Given the description of an element on the screen output the (x, y) to click on. 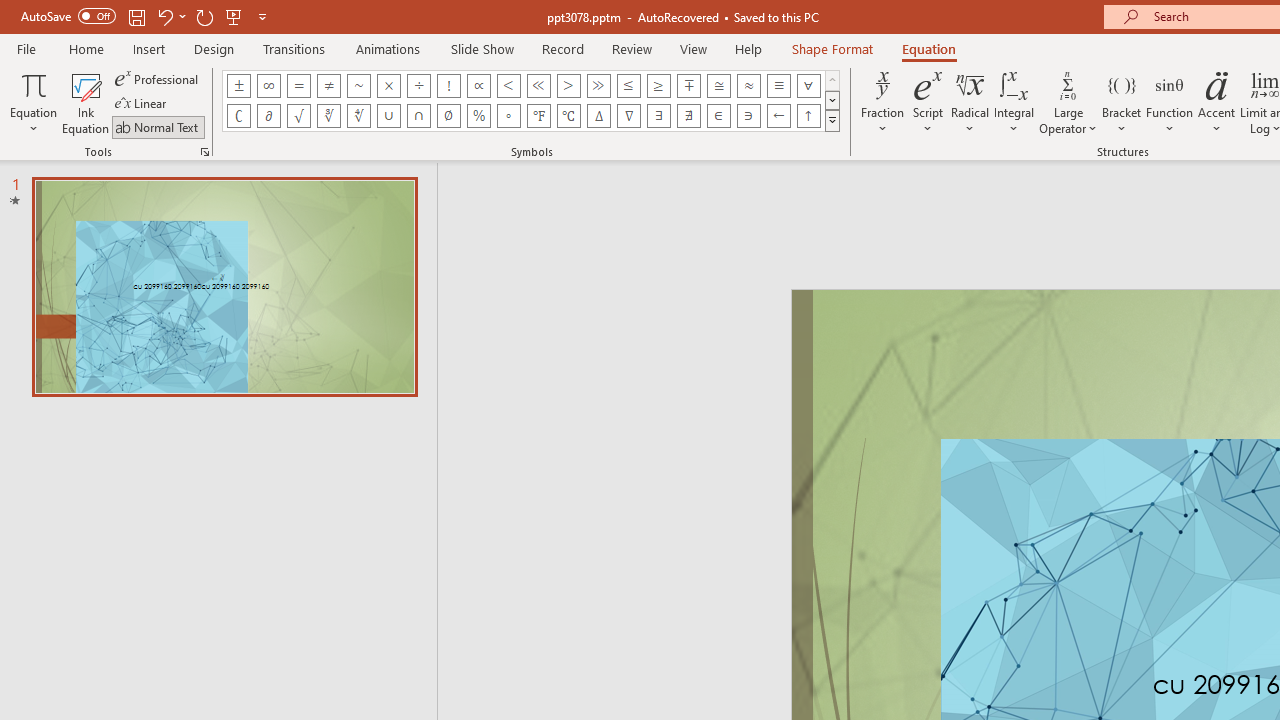
Radical (970, 102)
Equation Symbol Not Equal To (328, 85)
Equation Symbol Degrees (508, 115)
Equation Symbol Intersection (418, 115)
Normal Text (158, 126)
Equation Symbol There Does Not Exist (689, 115)
Equation Symbol Approximately Equal To (718, 85)
Accent (1216, 102)
Equation Symbol Plus Minus (238, 85)
Equation Symbol Less Than or Equal To (628, 85)
